Given the description of an element on the screen output the (x, y) to click on. 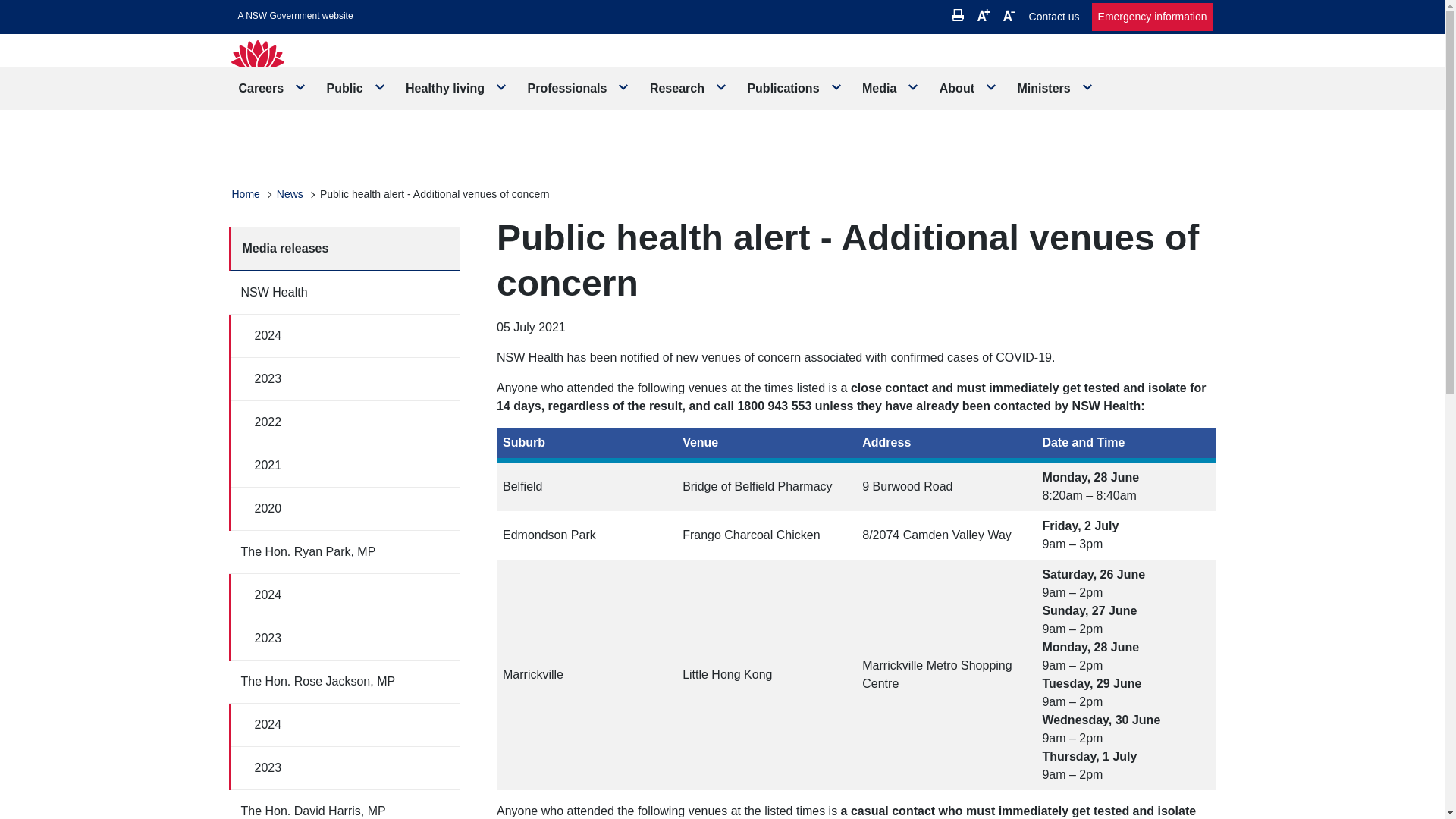
Go to homepage (347, 79)
Careers (272, 88)
Increase Font Size (983, 15)
Public (356, 88)
Contact us (1054, 17)
Home (245, 193)
Print Page (957, 15)
Skip to content (296, 15)
Decrease Font Size (1008, 15)
Emergency information (1152, 17)
